Given the description of an element on the screen output the (x, y) to click on. 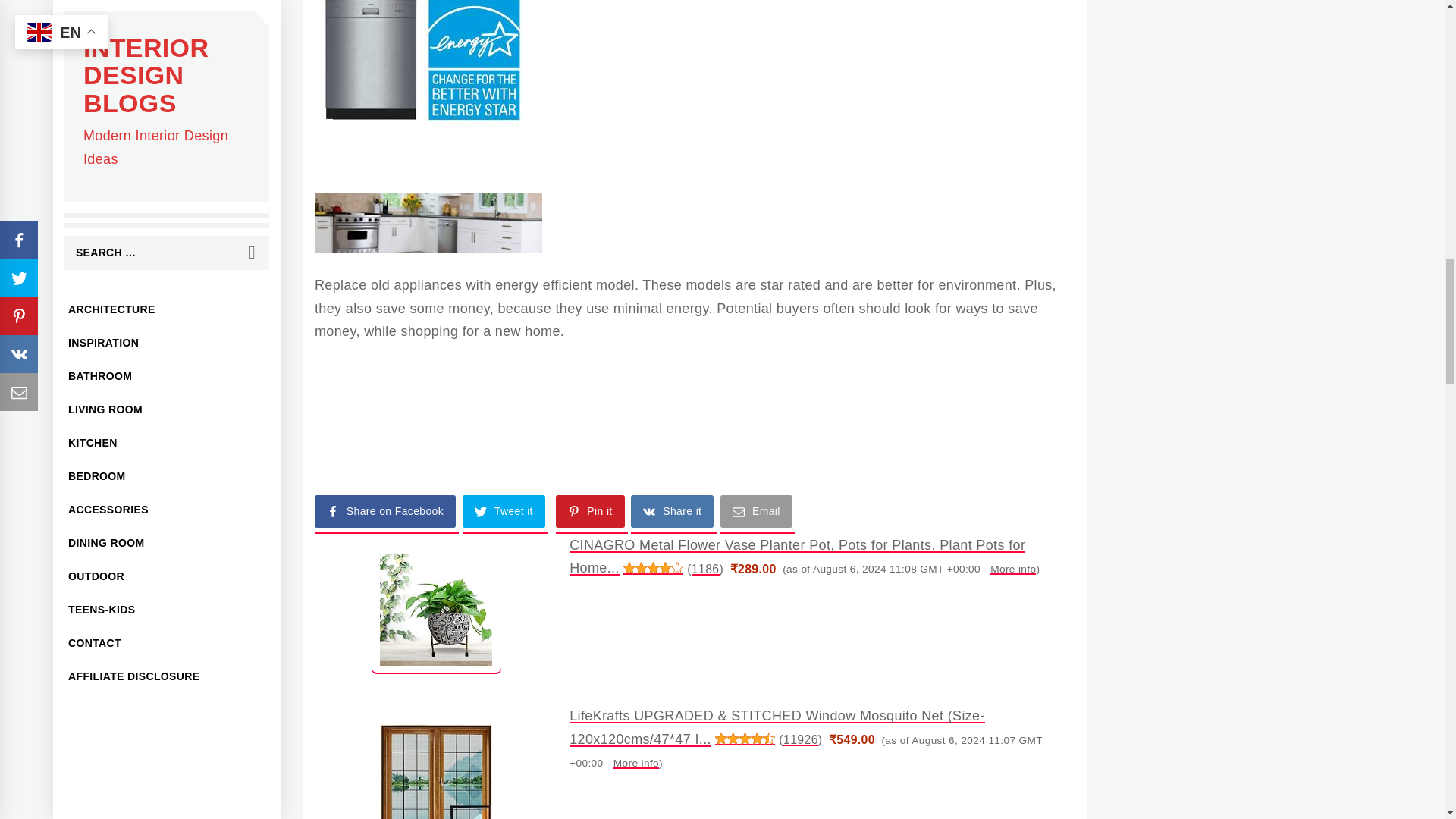
Ideas to revamp your Kitchen (421, 63)
Tweet it (505, 514)
Pin it (590, 514)
Share on Facebook (386, 514)
Ideas to revamp your Kitchen (427, 222)
